Given the description of an element on the screen output the (x, y) to click on. 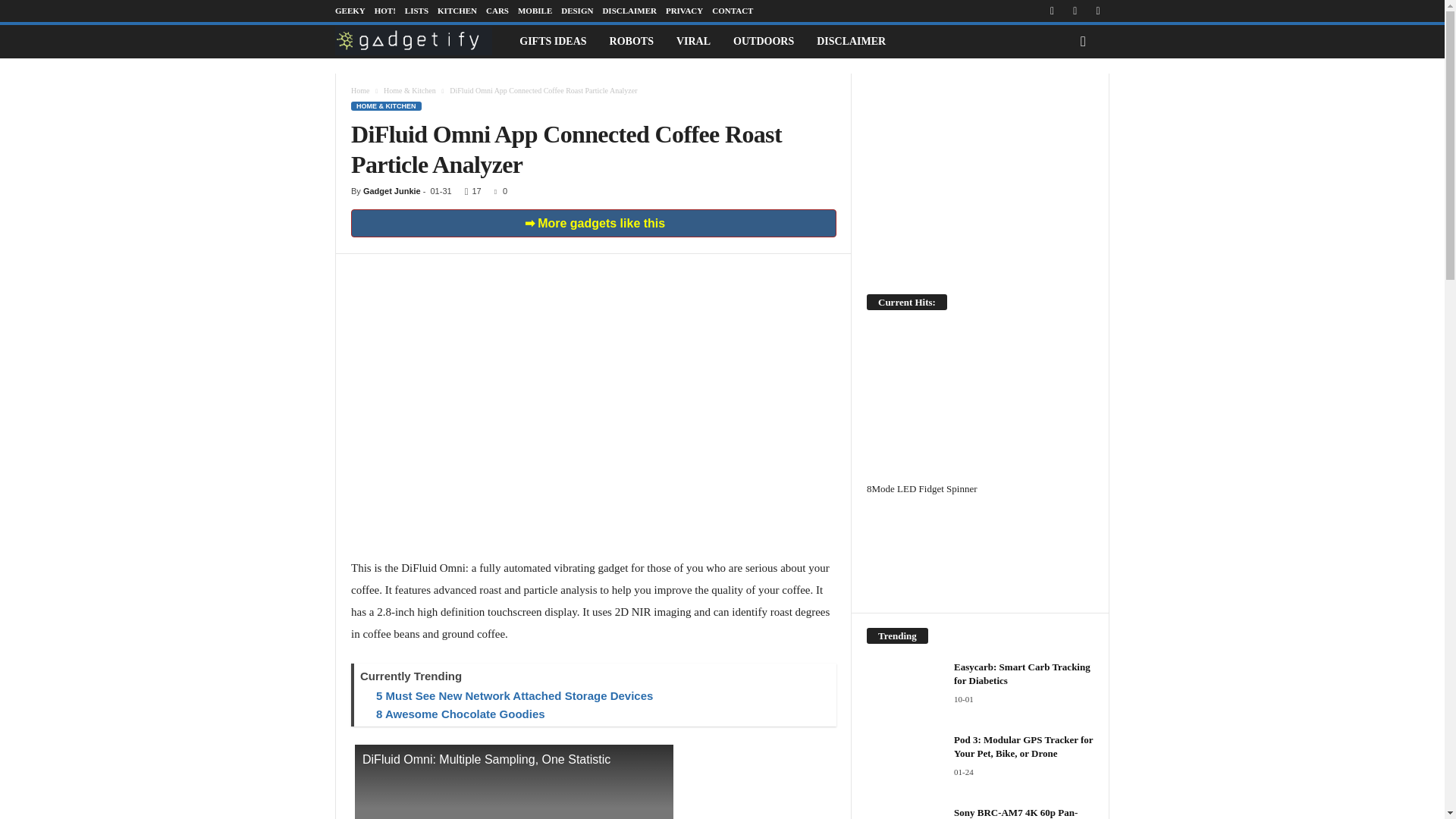
LISTS (416, 10)
HOT! (385, 10)
GEEKY (349, 10)
